Given the description of an element on the screen output the (x, y) to click on. 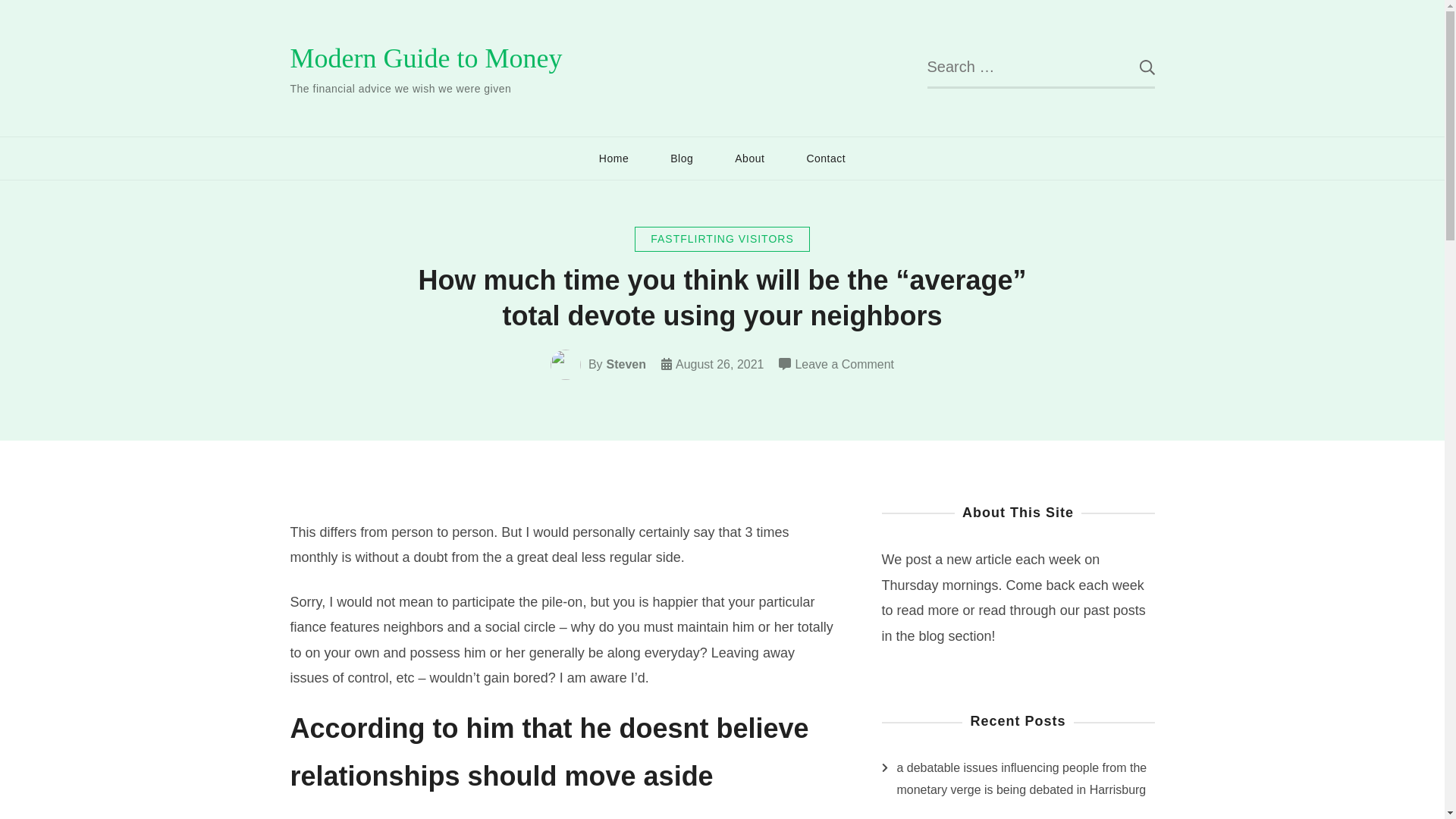
Contact (825, 158)
Home (613, 158)
About (749, 158)
Blog (680, 158)
Steven (626, 363)
Modern Guide to Money (425, 58)
Search (1135, 67)
August 26, 2021 (718, 363)
Search (1135, 67)
Search (1135, 67)
FASTFLIRTING VISITORS (721, 238)
